Given the description of an element on the screen output the (x, y) to click on. 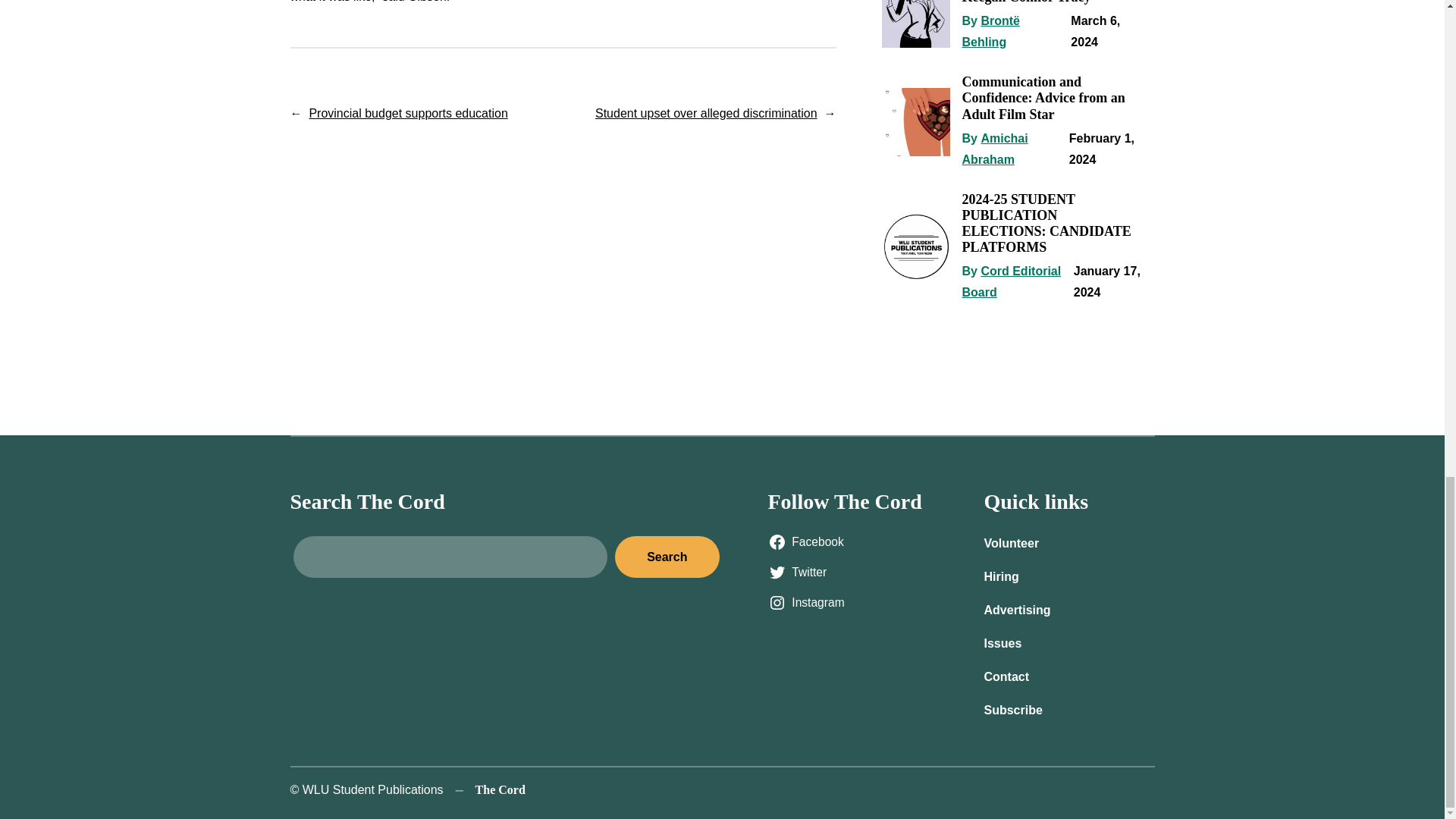
Posts by Amichai Abraham (993, 148)
Student upset over alleged discrimination (705, 113)
Provincial budget supports education (407, 113)
Posts by Cord Editorial Board (1010, 281)
